Given the description of an element on the screen output the (x, y) to click on. 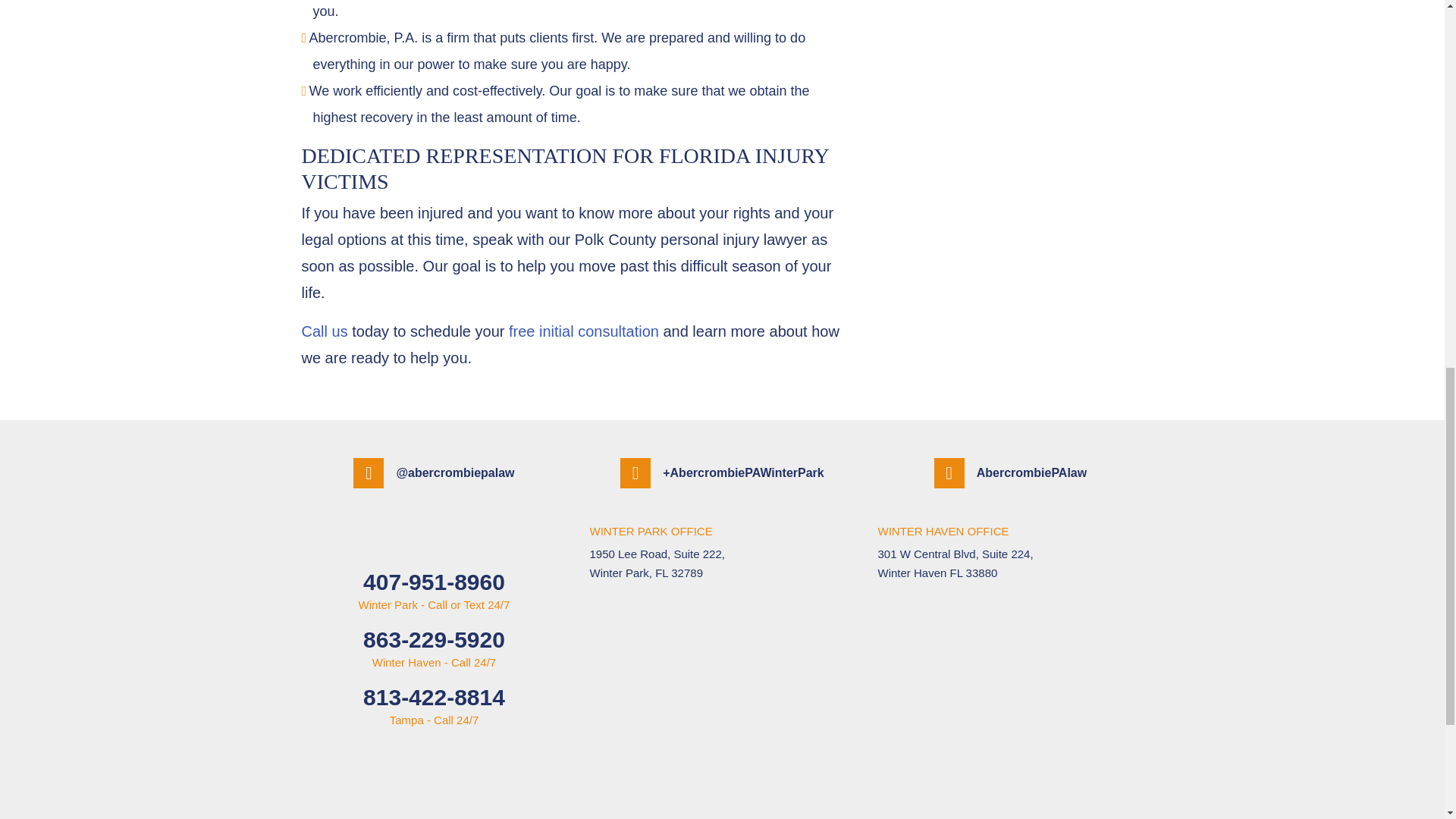
Free Consultation (583, 330)
Contact Us (324, 330)
